Given the description of an element on the screen output the (x, y) to click on. 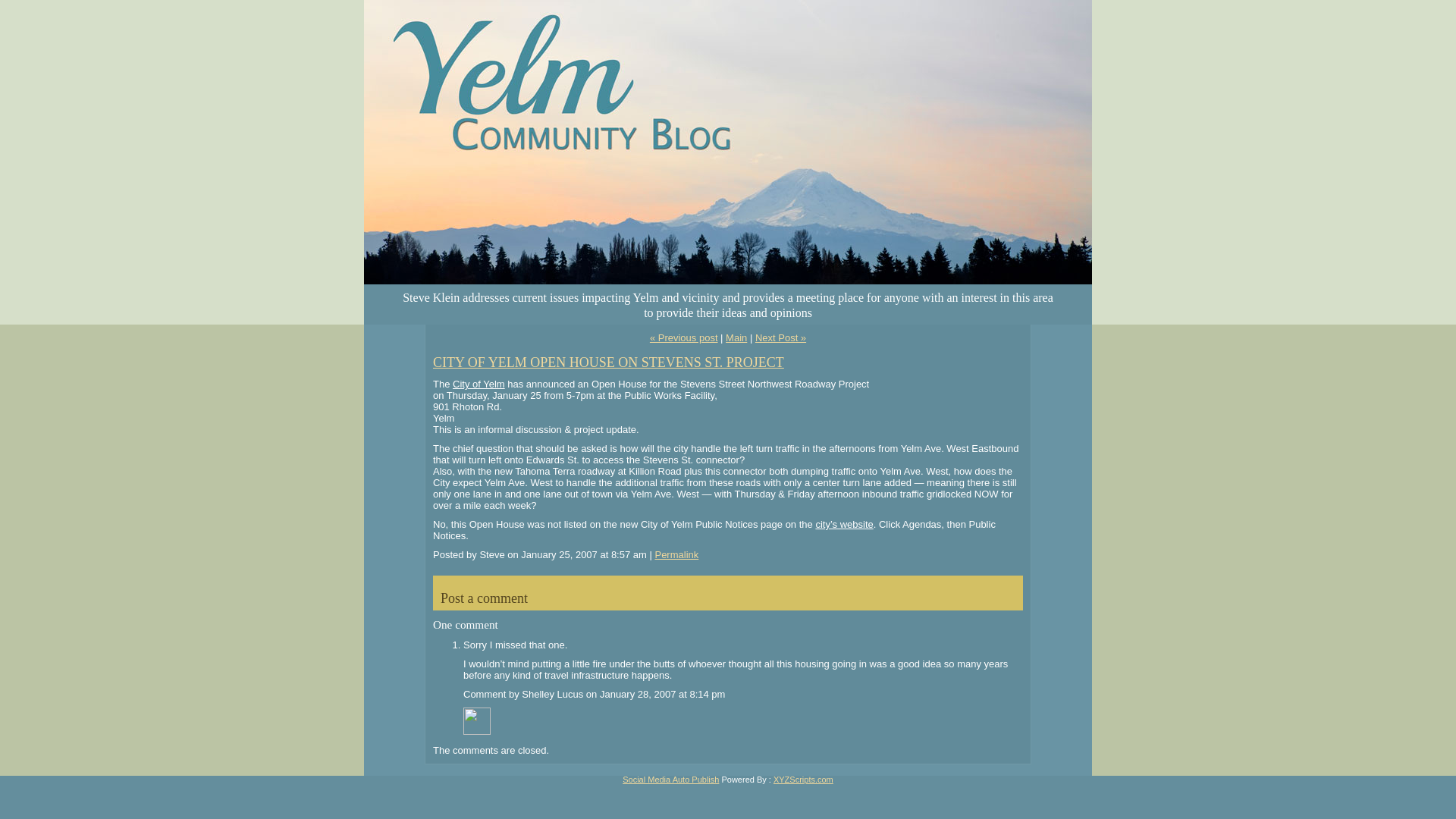
Main (735, 337)
Permalink (675, 554)
City of Yelm (478, 383)
CITY OF YELM OPEN HOUSE ON STEVENS ST. PROJECT (608, 362)
CITY OF YELM OPEN HOUSE ON STEVENS ST. PROJECT (608, 362)
